Given the description of an element on the screen output the (x, y) to click on. 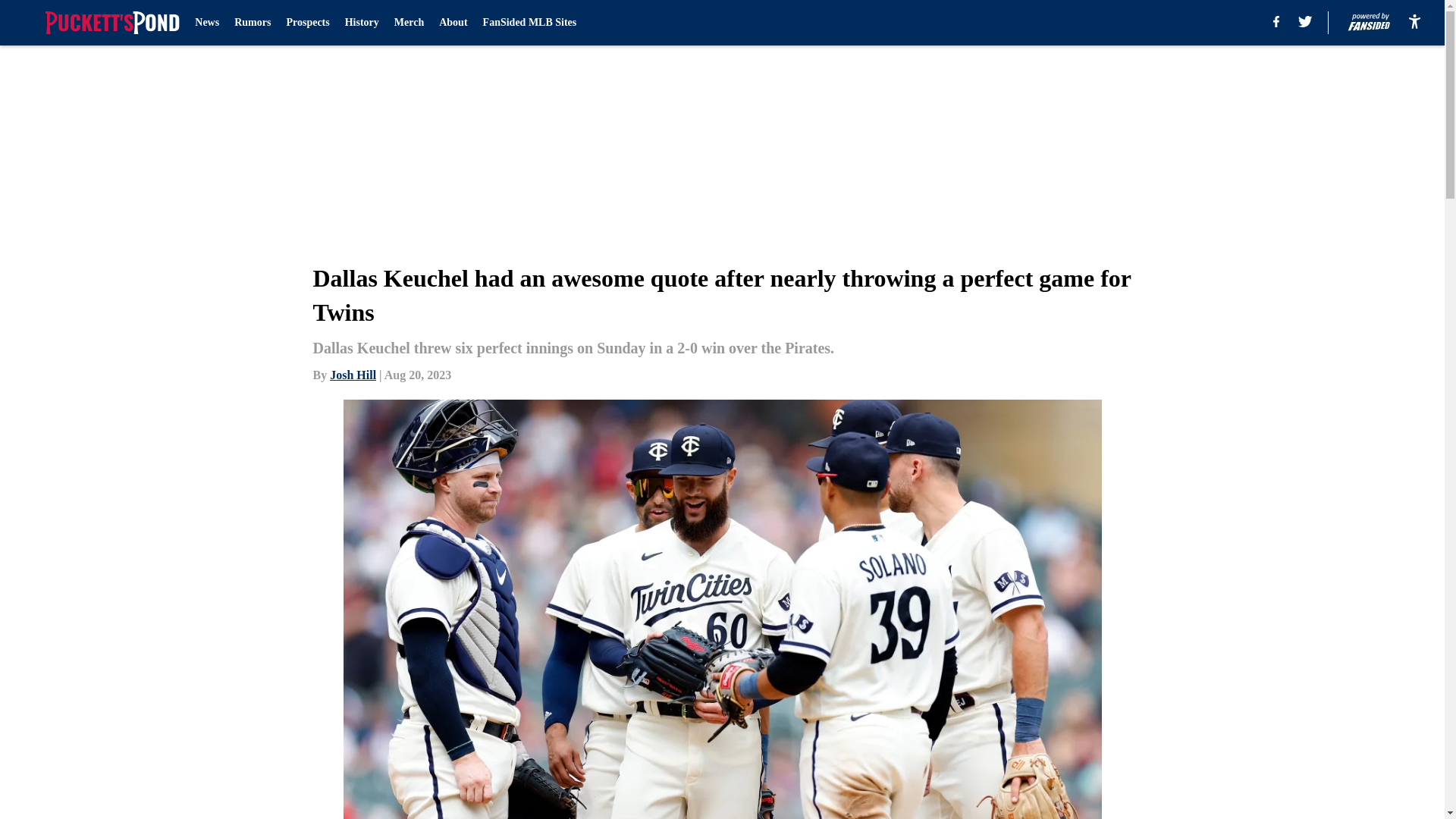
About (453, 22)
Prospects (307, 22)
Merch (408, 22)
FanSided MLB Sites (529, 22)
News (207, 22)
Rumors (252, 22)
History (361, 22)
Josh Hill (352, 374)
